Given the description of an element on the screen output the (x, y) to click on. 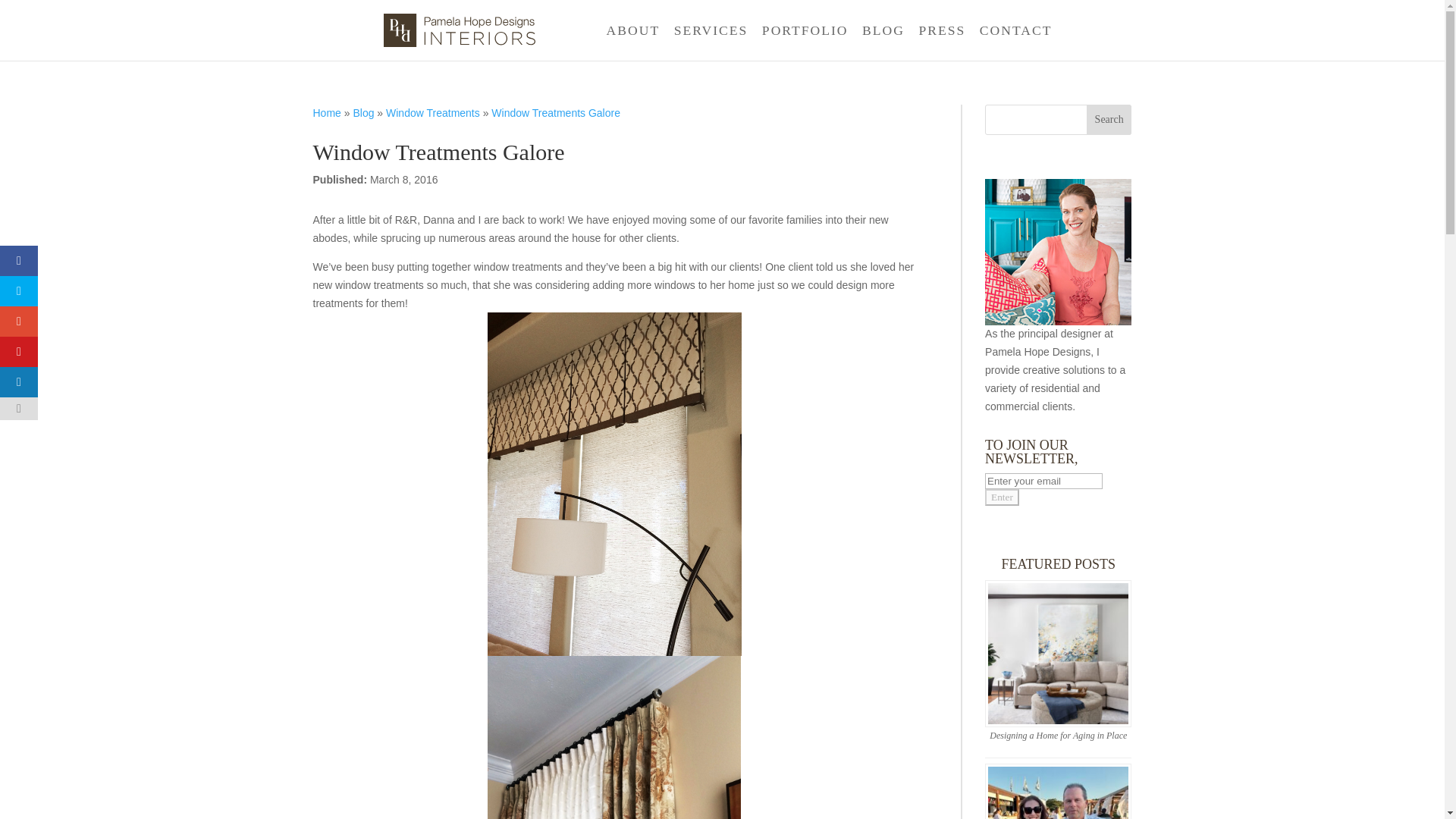
SERVICES (711, 42)
BLOG (882, 42)
Window Treatments Galore (556, 112)
Home (326, 112)
Designing a Home for Aging in Place (1058, 735)
CONTACT (1015, 42)
Enter (1002, 497)
Enter (1002, 497)
PORTFOLIO (804, 42)
Search (1109, 119)
